Given the description of an element on the screen output the (x, y) to click on. 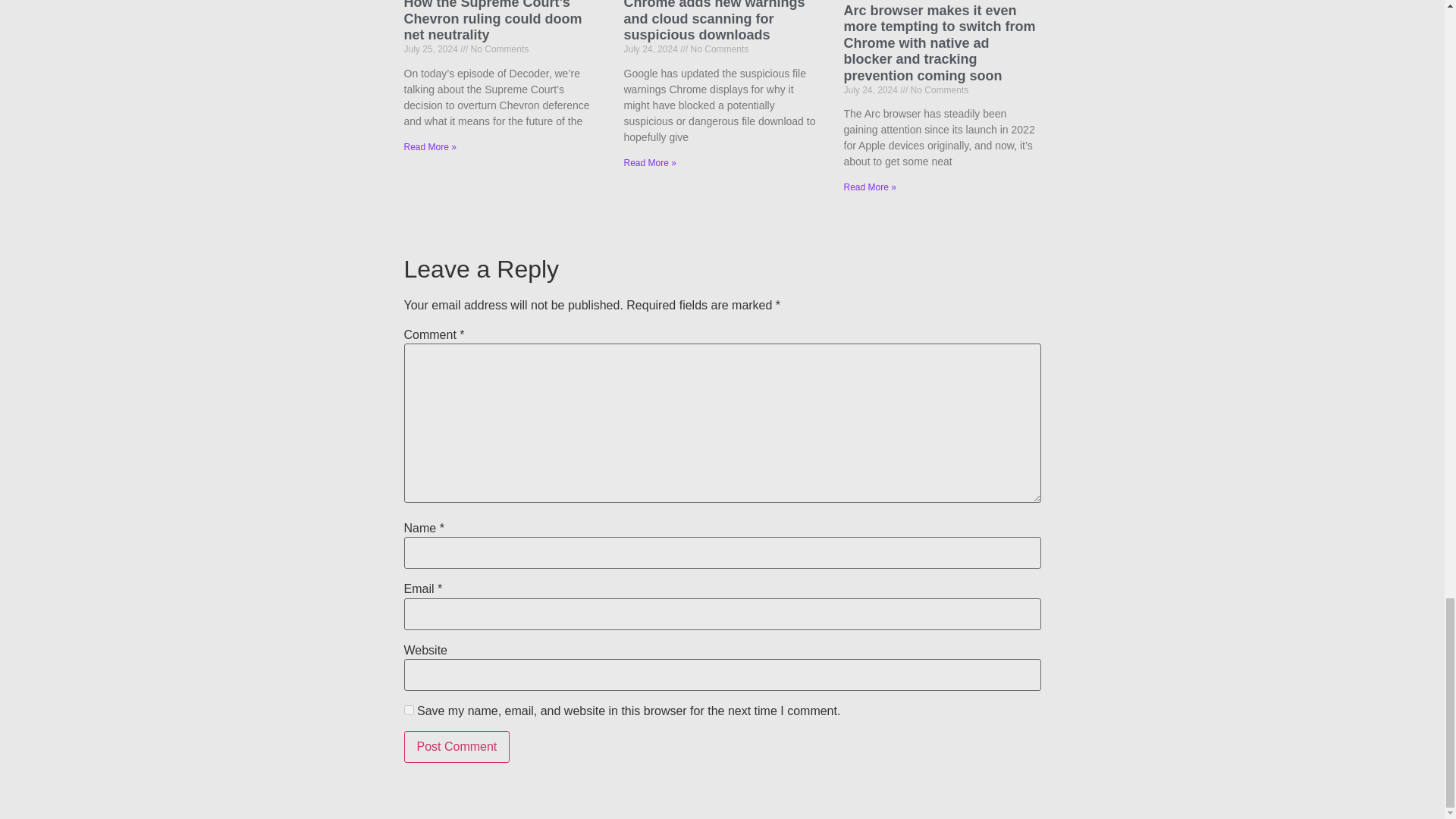
Post Comment (456, 746)
Post Comment (456, 746)
yes (408, 709)
